Given the description of an element on the screen output the (x, y) to click on. 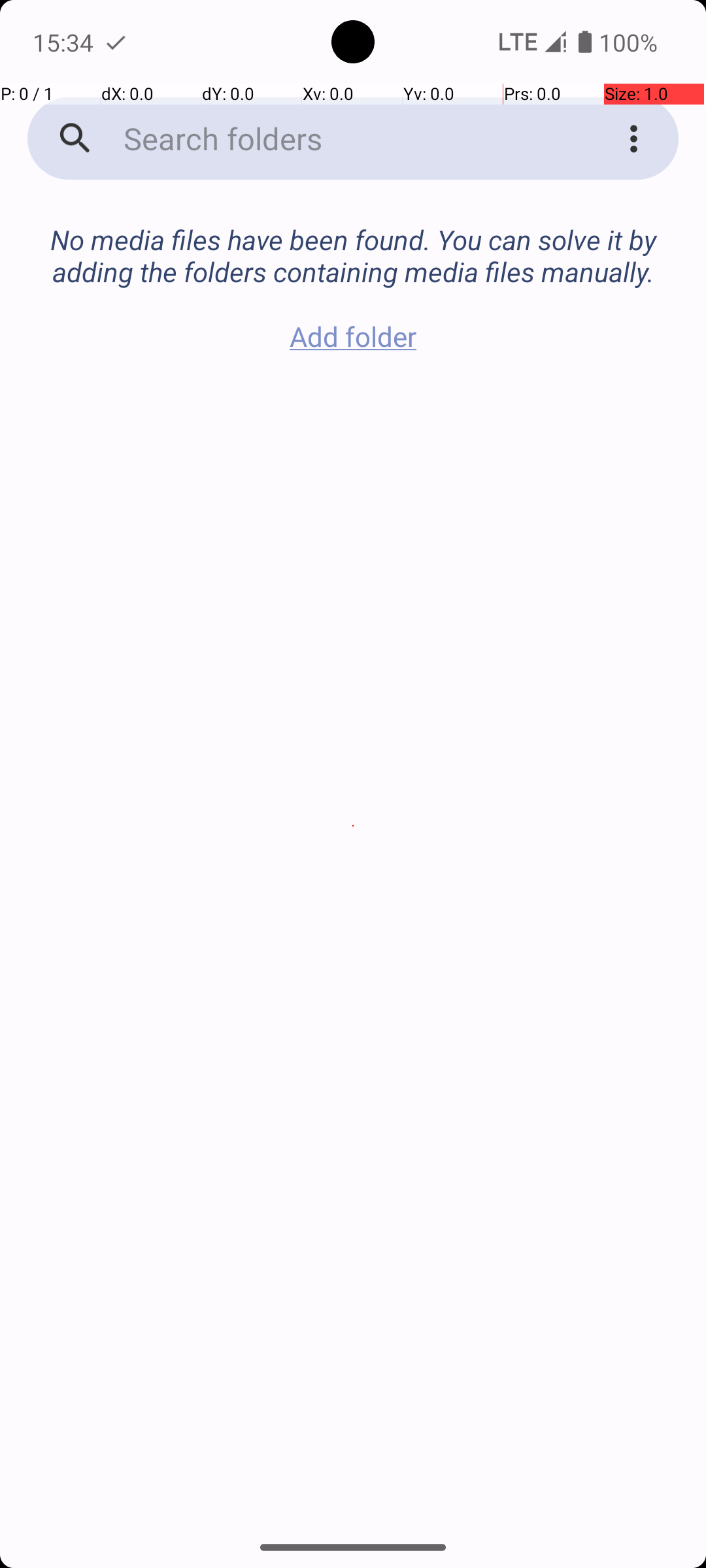
No media files have been found. You can solve it by adding the folders containing media files manually. Element type: android.widget.TextView (353, 241)
Add folder Element type: android.widget.TextView (352, 336)
